Given the description of an element on the screen output the (x, y) to click on. 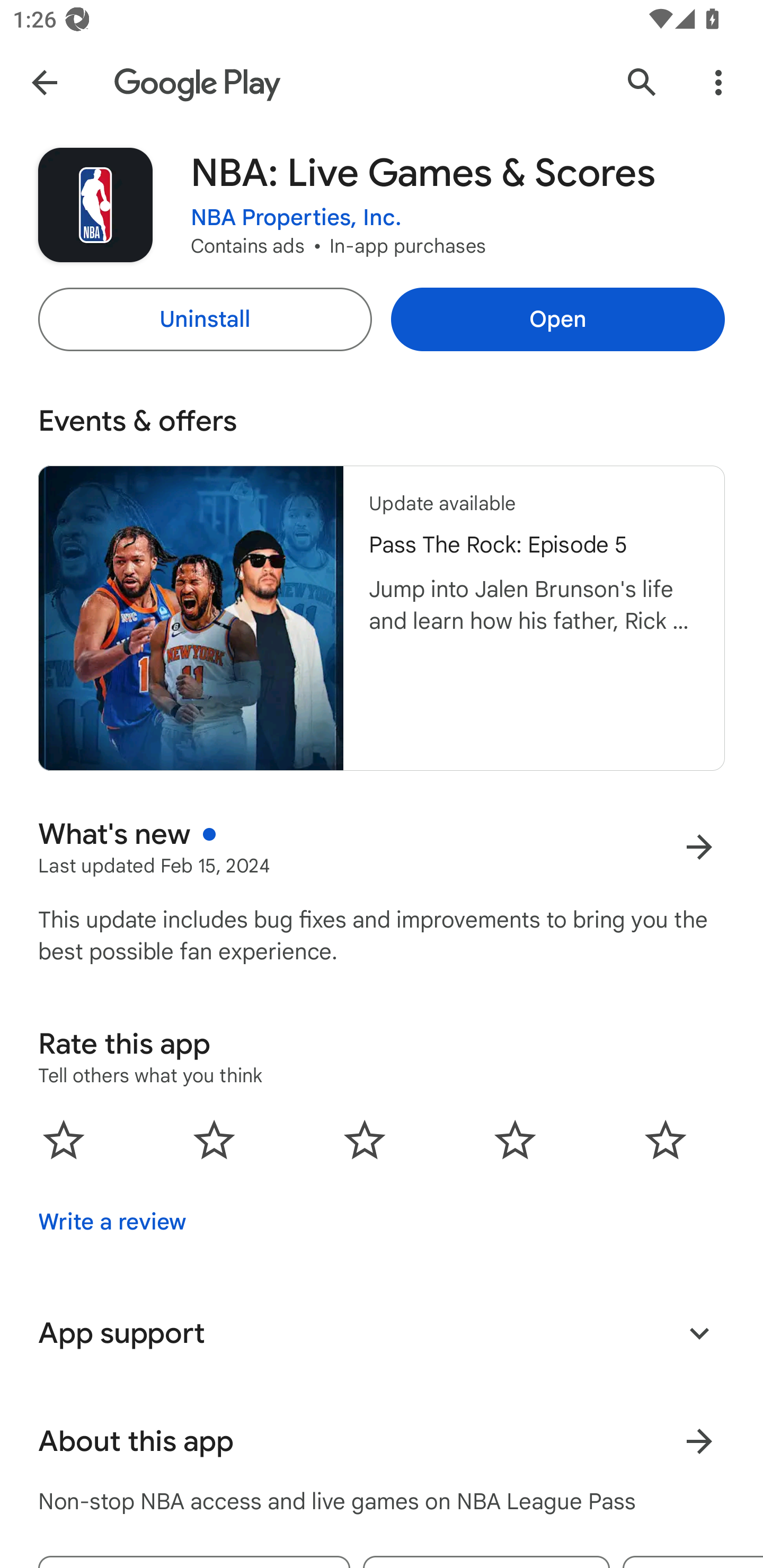
Navigate up (44, 81)
Search Google Play (642, 81)
More Options (718, 81)
NBA Properties, Inc. (295, 217)
Uninstall (205, 318)
Open (557, 318)
More results for What's new (699, 847)
0.0 (364, 1138)
Write a review (112, 1221)
App support Expand (381, 1333)
Expand (699, 1333)
About this app Learn more About this app (381, 1441)
Learn more About this app (699, 1441)
